Given the description of an element on the screen output the (x, y) to click on. 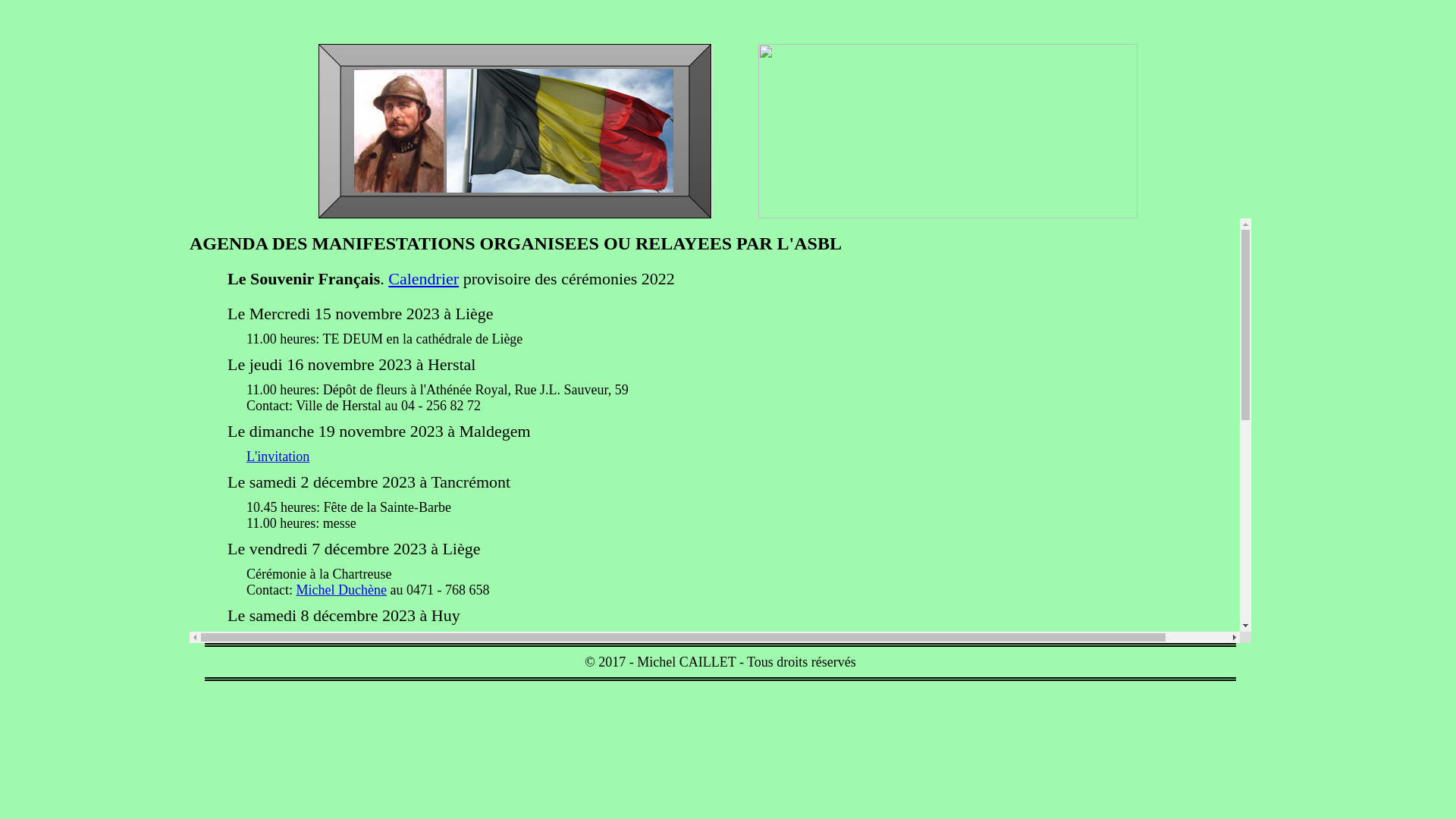
L'invitation Element type: text (277, 640)
Calendrier Element type: text (423, 278)
L'invitation Element type: text (277, 456)
